Given the description of an element on the screen output the (x, y) to click on. 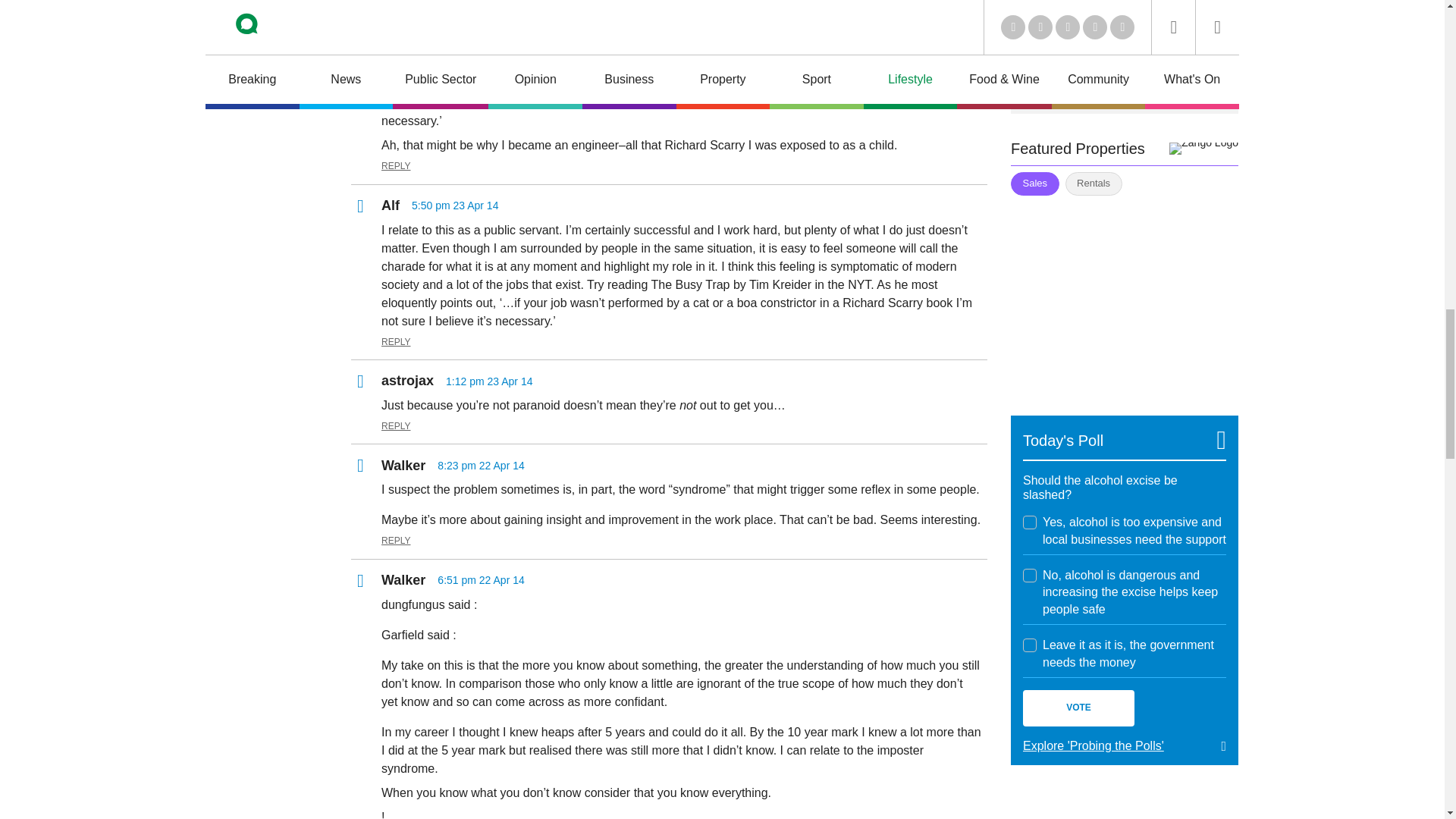
2046 (1029, 522)
   Vote    (1078, 708)
Zango (1204, 148)
Zango Sales (1124, 296)
2047 (1029, 575)
2048 (1029, 644)
